Given the description of an element on the screen output the (x, y) to click on. 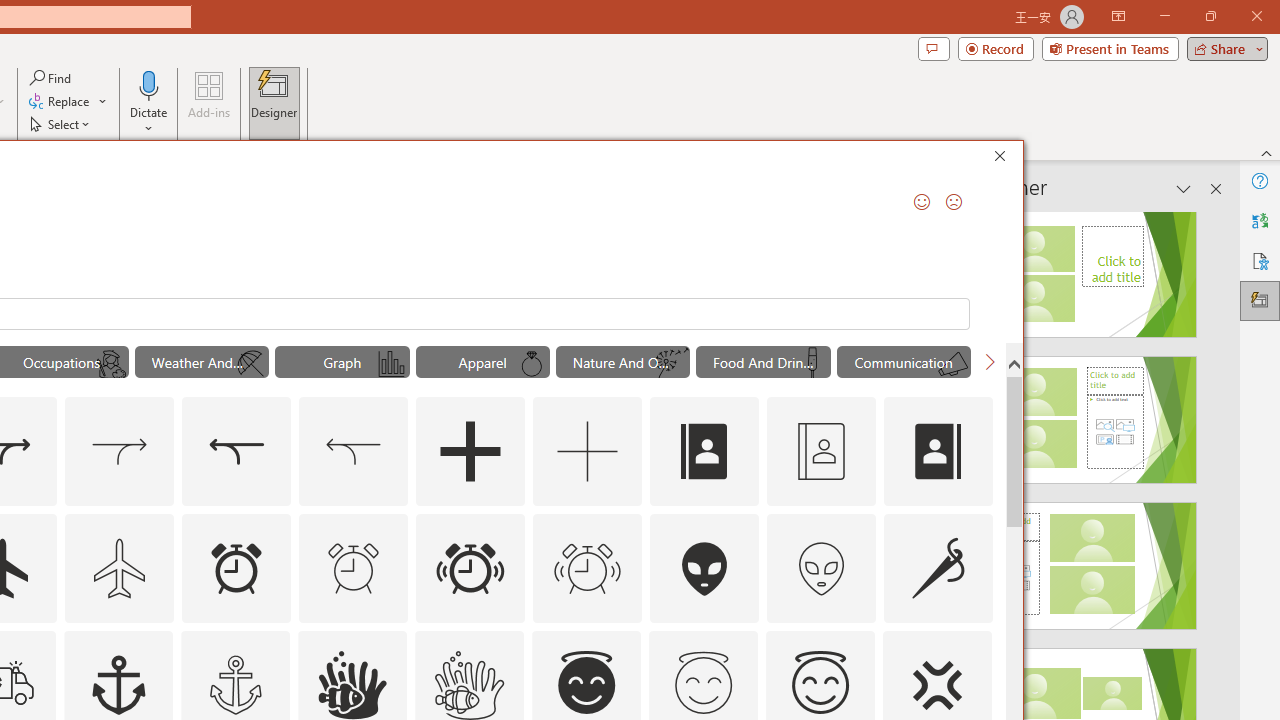
AutomationID: Icons (703, 683)
"Food And Drinks" Icons. (763, 362)
"Communication" Icons. (904, 362)
"Weather And Seasons" Icons. (201, 362)
AutomationID: Icons_Dandelion_M (671, 364)
"Nature And Outdoors" Icons. (622, 362)
AutomationID: Icons_Champagne_M (812, 364)
outline (820, 685)
AutomationID: Icons_AlienFace (705, 568)
